Given the description of an element on the screen output the (x, y) to click on. 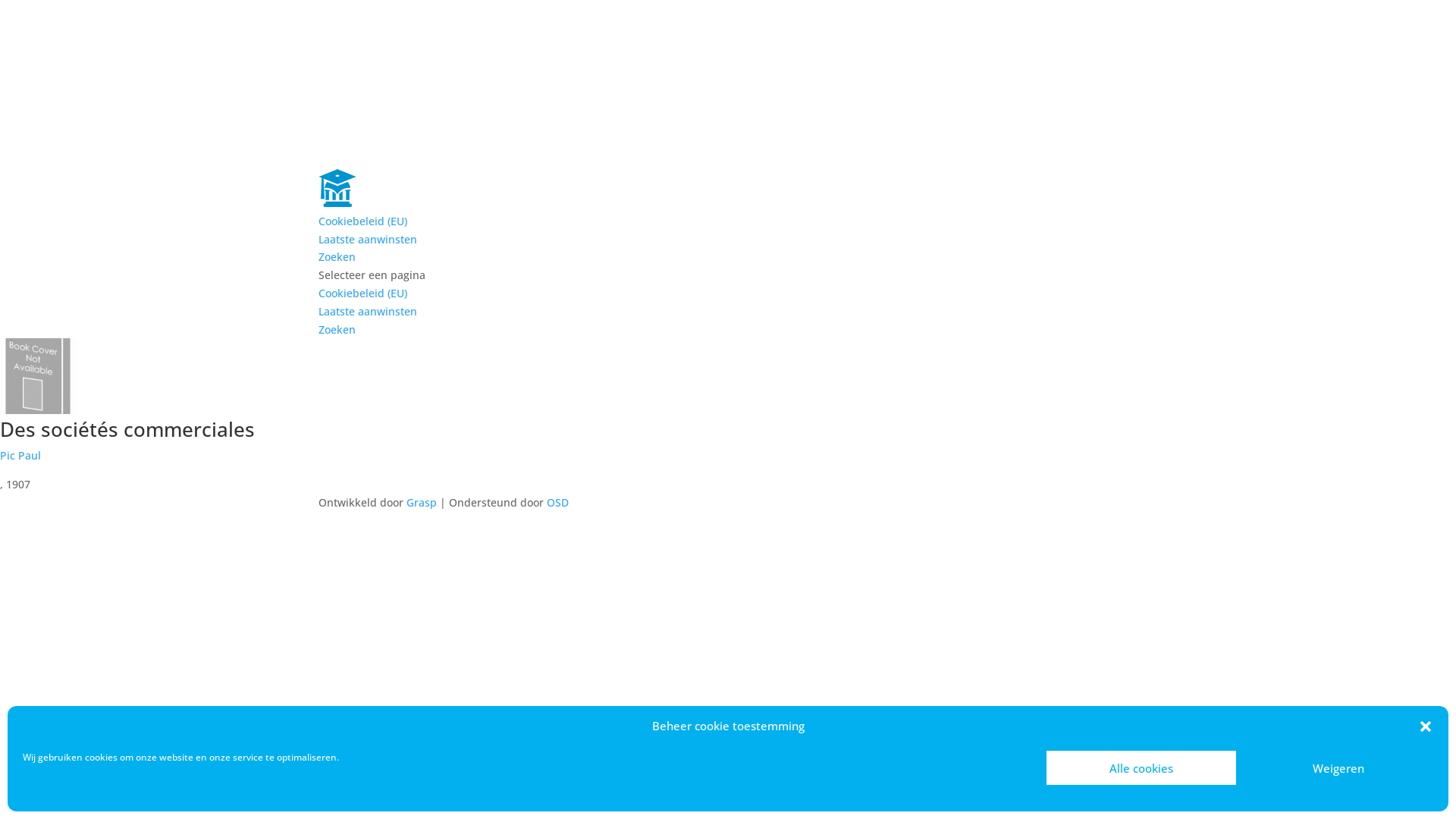
Weigeren Element type: text (1338, 767)
OSD Element type: text (557, 502)
Cookiebeleid (EU) Element type: text (362, 220)
Zoeken Element type: text (336, 256)
Grasp Element type: text (421, 502)
Laatste aanwinsten Element type: text (367, 311)
Laatste aanwinsten Element type: text (367, 239)
Alle cookies Element type: text (1141, 767)
Cookiebeleid (EU) Element type: text (362, 292)
Zoeken Element type: text (336, 329)
Pic Paul Element type: text (20, 455)
